Given the description of an element on the screen output the (x, y) to click on. 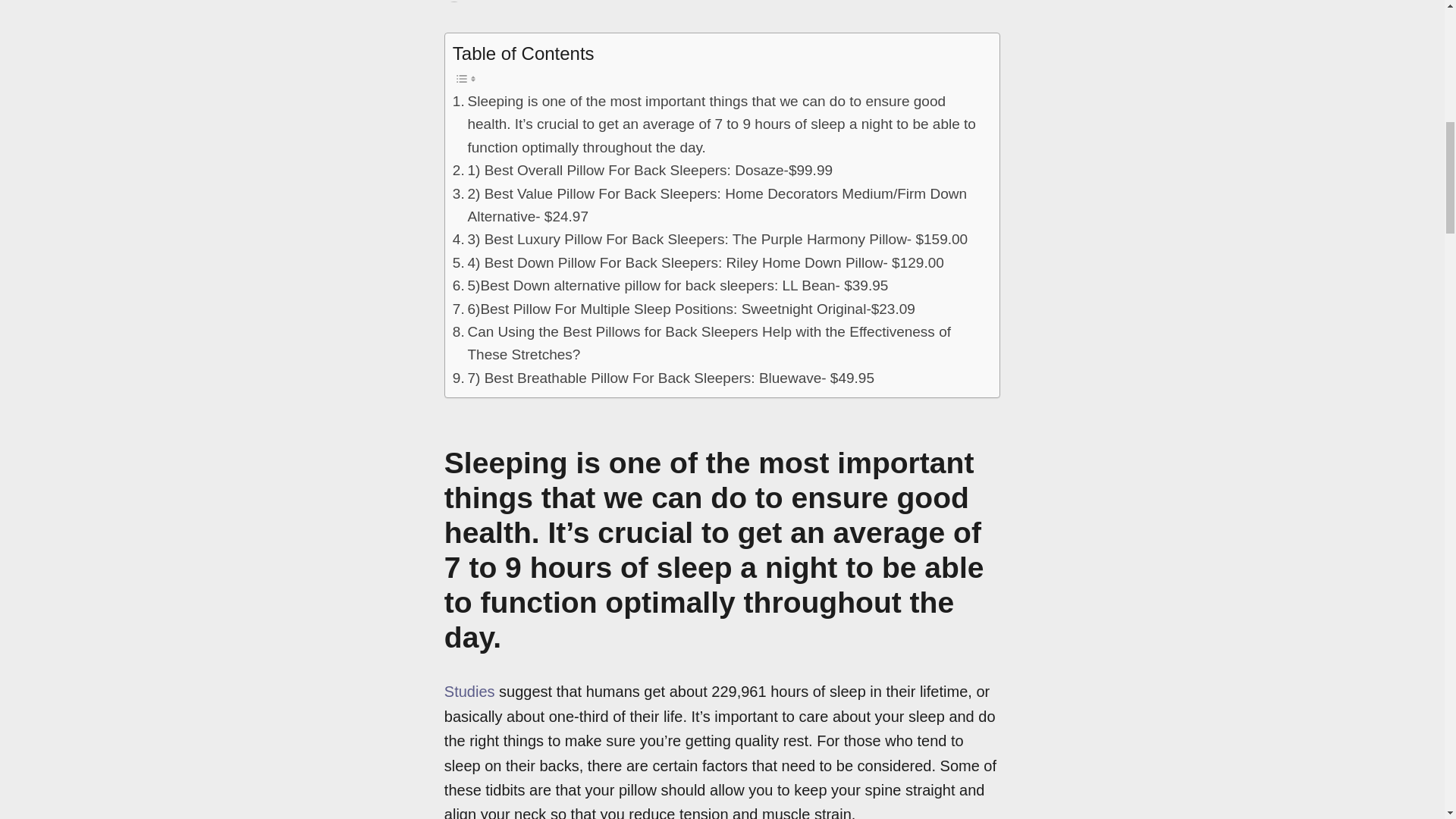
Studies (469, 691)
Author (484, 1)
